Given the description of an element on the screen output the (x, y) to click on. 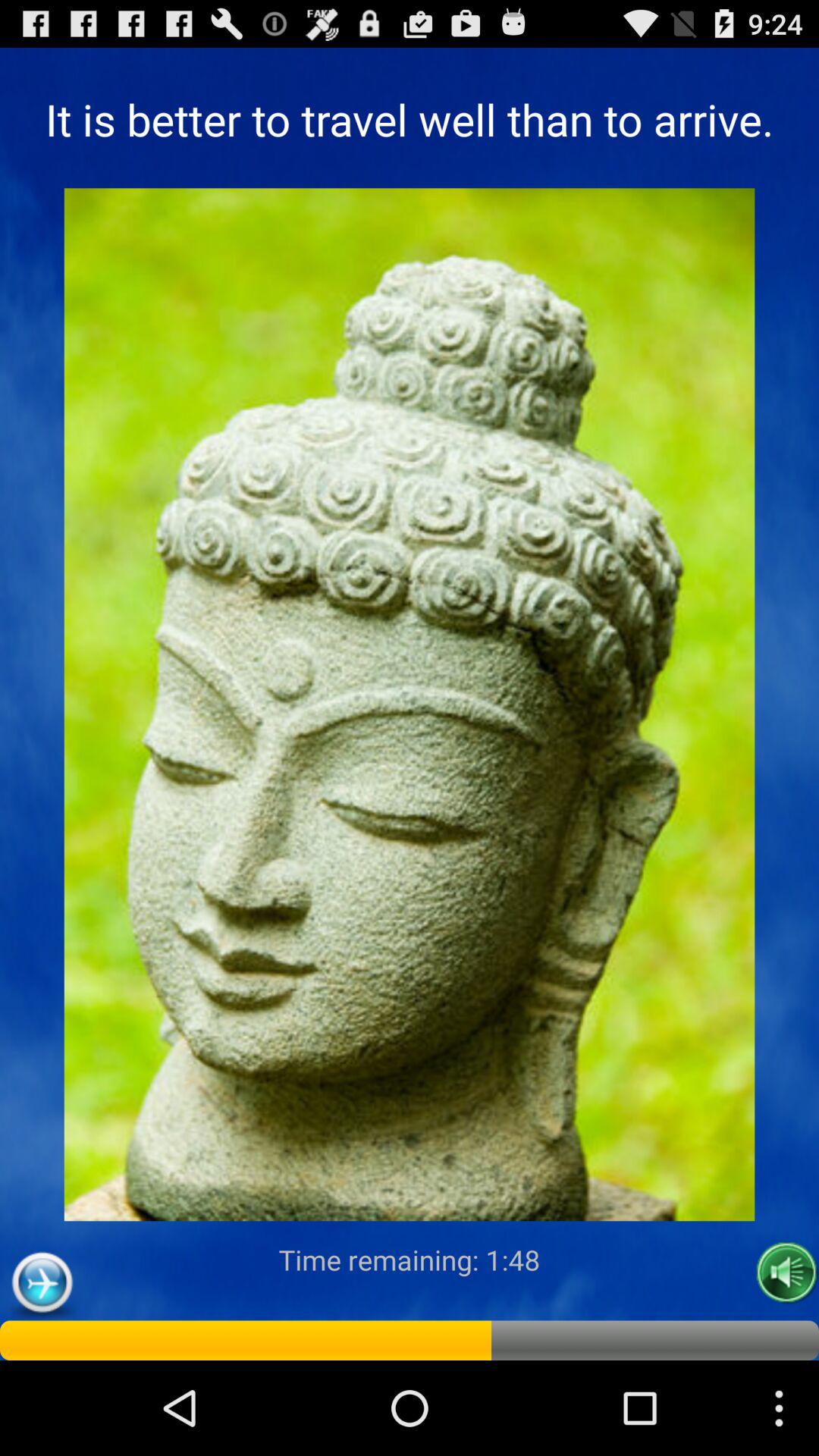
select the app to the right of time remaining 1 app (787, 1272)
